Given the description of an element on the screen output the (x, y) to click on. 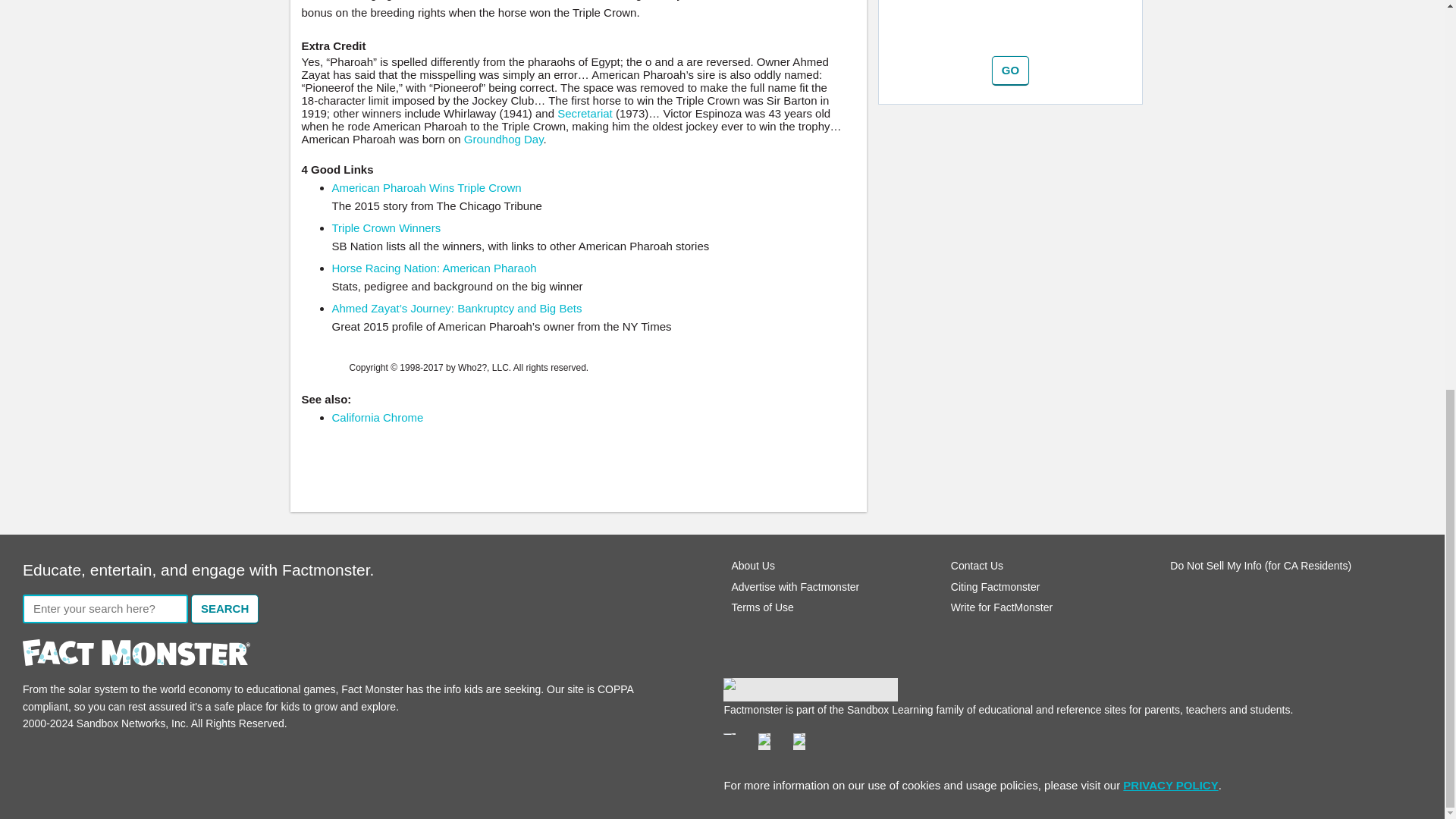
Search (224, 609)
Go (1010, 70)
About Us (752, 565)
Go (1010, 70)
